Given the description of an element on the screen output the (x, y) to click on. 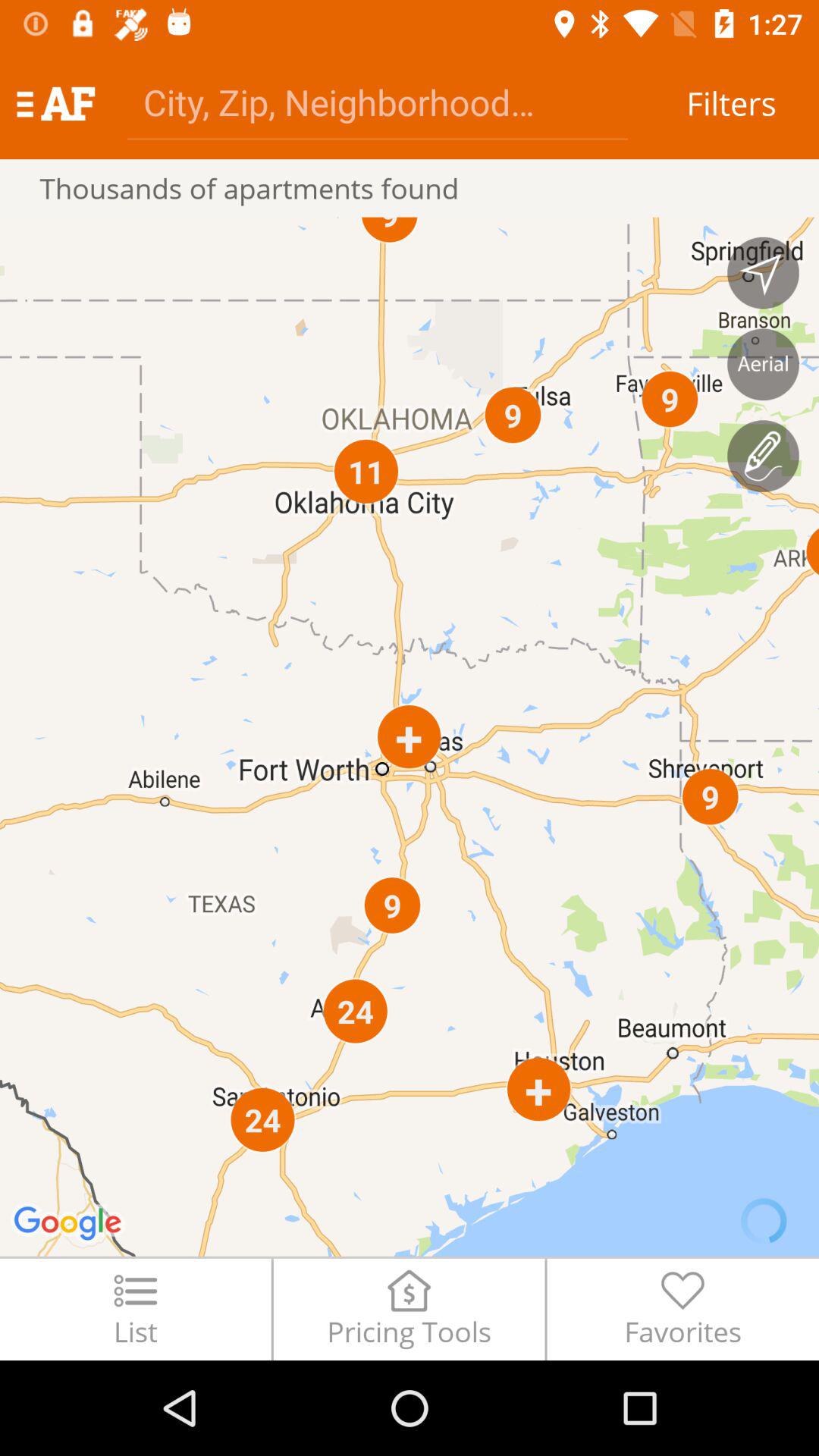
navigation option (763, 272)
